Given the description of an element on the screen output the (x, y) to click on. 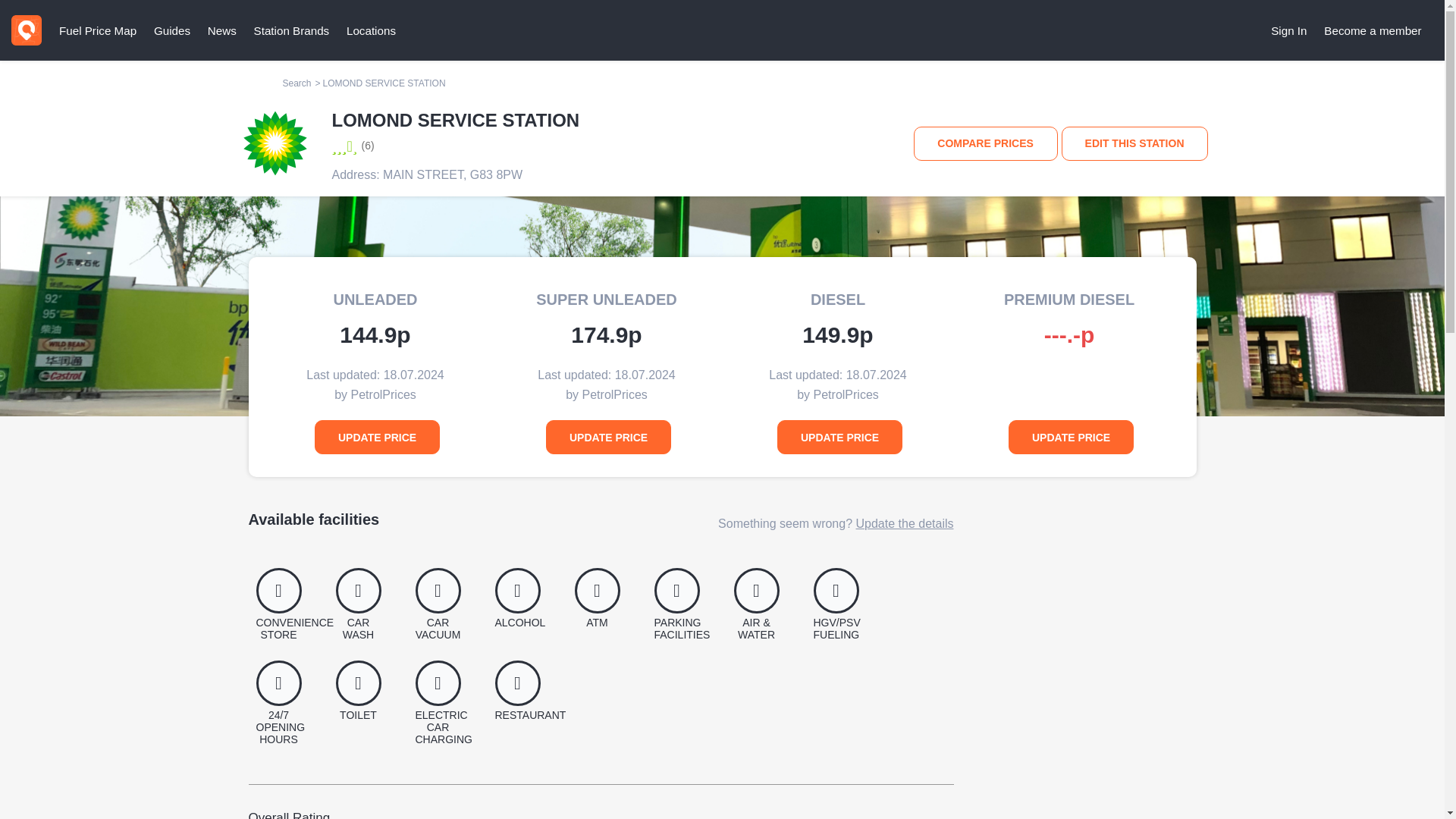
EDIT THIS STATION (1134, 143)
Update the details (904, 522)
Fuel Price Map (96, 30)
UPDATE PRICE (608, 437)
COMPARE PRICES (986, 143)
Locations (370, 30)
UPDATE PRICE (1071, 437)
News (221, 30)
Station Brands (290, 30)
UPDATE PRICE (839, 437)
Guides (171, 30)
Become a member (1373, 30)
UPDATE PRICE (376, 437)
Sign In (1289, 30)
Search (296, 82)
